Given the description of an element on the screen output the (x, y) to click on. 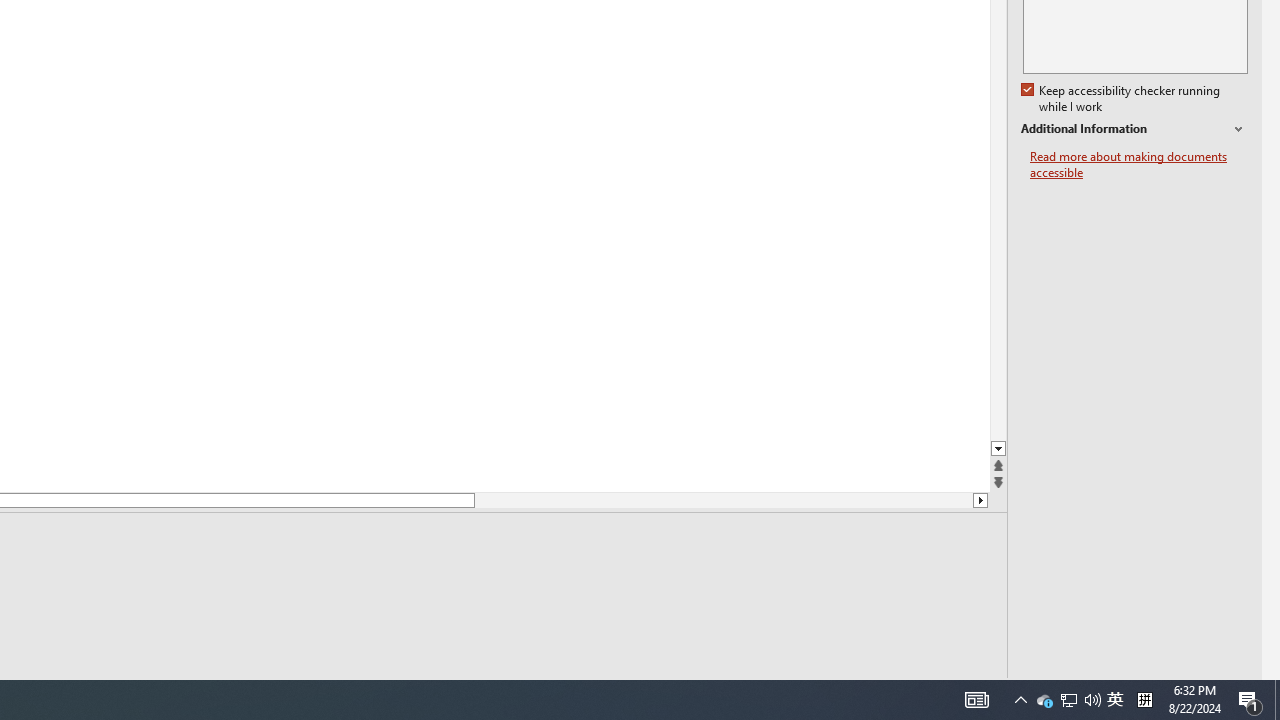
Slide Show Next On (924, 691)
Page down (1069, 699)
Notification Chevron (723, 500)
Q2790: 100% (1020, 699)
Tray Input Indicator - Chinese (Simplified, China) (1092, 699)
Menu On (1144, 699)
Read more about making documents accessible (892, 691)
